Given the description of an element on the screen output the (x, y) to click on. 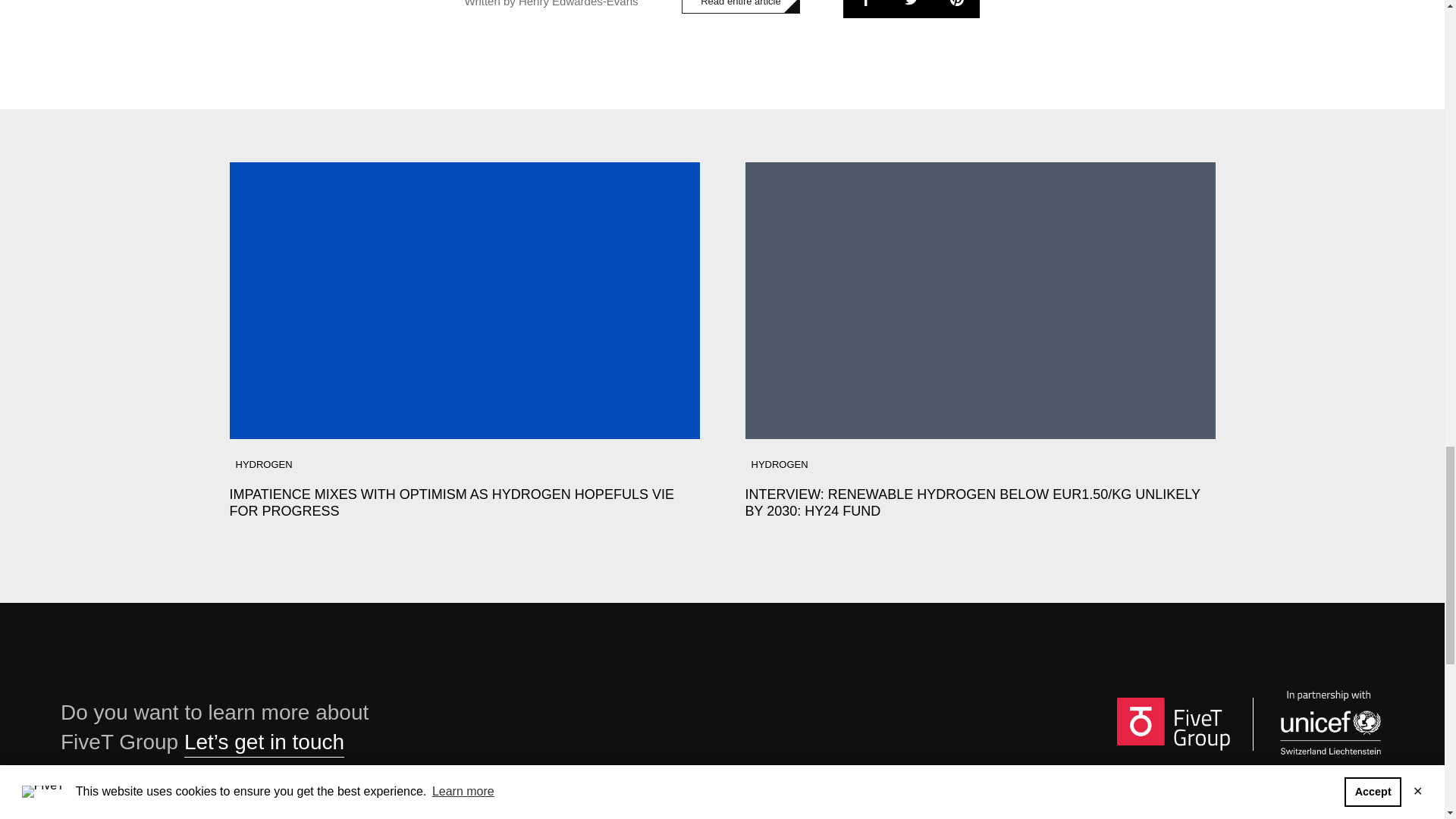
Contact (263, 741)
